Given the description of an element on the screen output the (x, y) to click on. 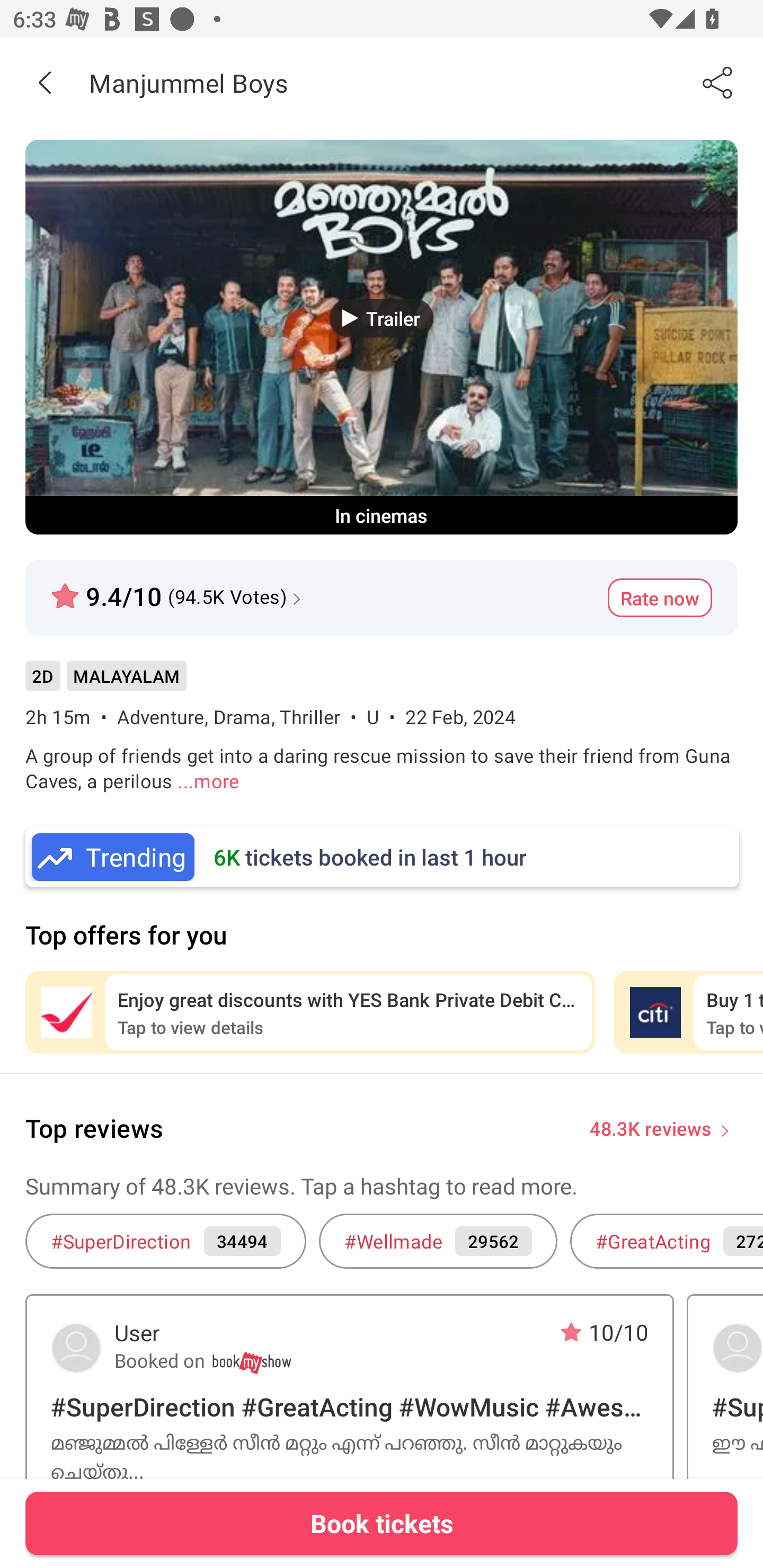
Back (44, 82)
Share (718, 82)
Movie Banner Trailer In cinemas (381, 336)
Trailer (381, 318)
9.4/10 (94.5K Votes) (178, 589)
Rate now (659, 597)
2D MALAYALAM (105, 682)
48.3K reviews (650, 1127)
#SuperDirection 34494 (165, 1240)
#Wellmade 29562 (437, 1240)
#GreatActing 27280 (666, 1240)
Book tickets (381, 1523)
